Given the description of an element on the screen output the (x, y) to click on. 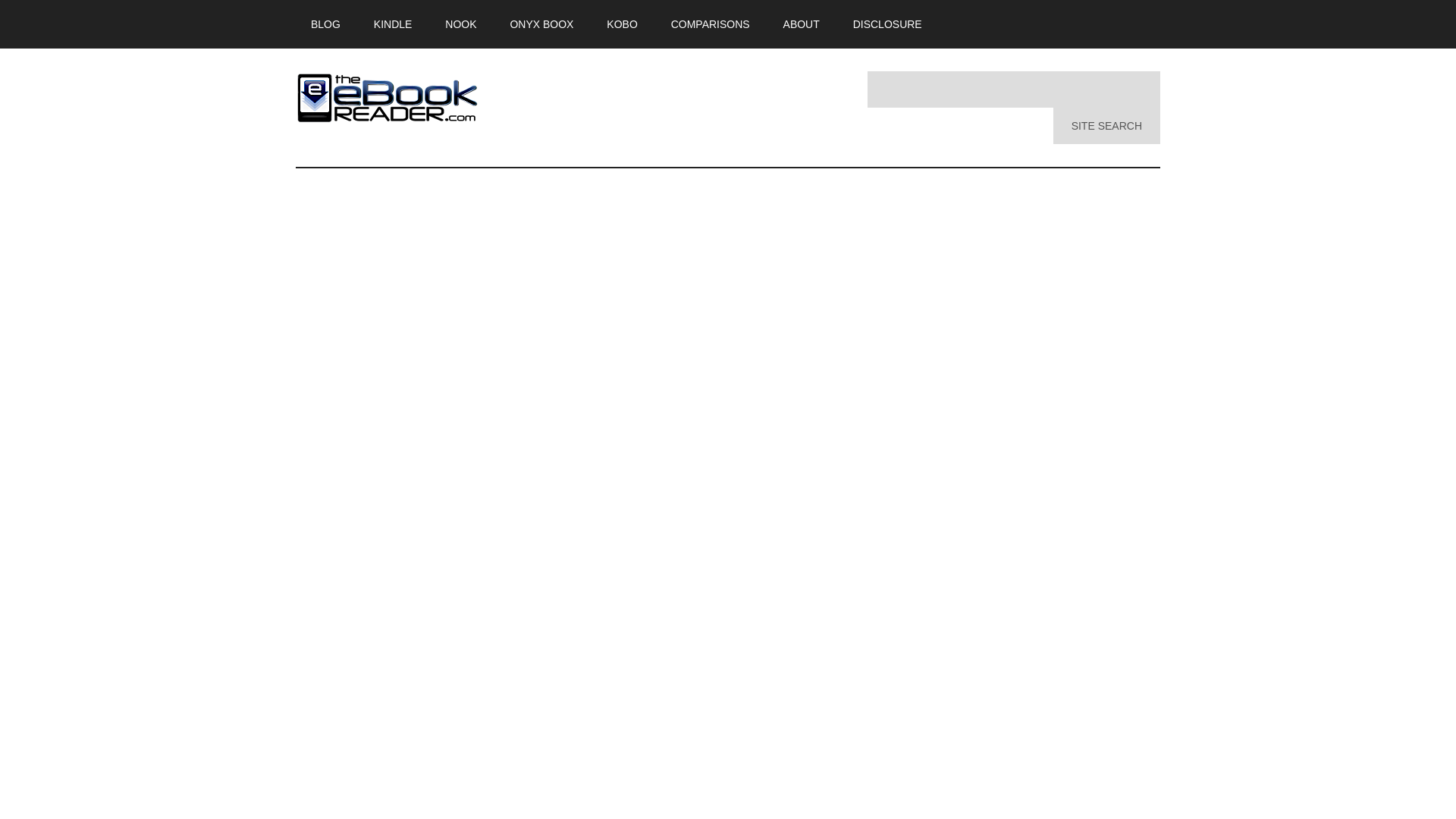
KINDLE (393, 24)
BLOG (325, 24)
Site Search (1106, 125)
ABOUT (801, 24)
NOOK (460, 24)
Site Search (1106, 125)
ONYX BOOX (541, 24)
COMPARISONS (710, 24)
KOBO (621, 24)
